Given the description of an element on the screen output the (x, y) to click on. 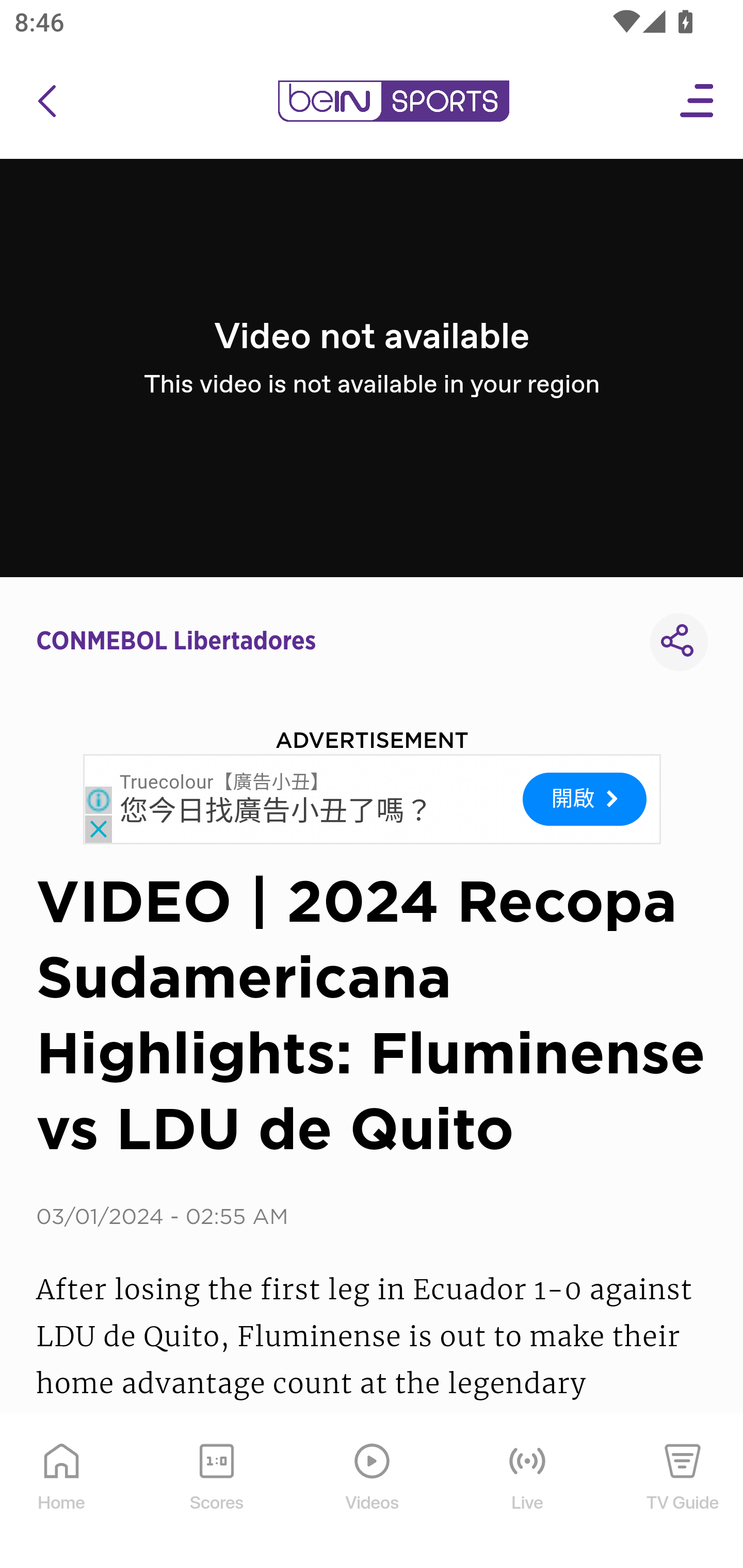
en-us?platform=mobile_android bein logo (392, 101)
icon back (46, 101)
Open Menu Icon (697, 101)
Truecolour【廣告小丑】 (223, 781)
開啟 (584, 799)
您今日找廣告小丑了嗎？ (276, 810)
Home Home Icon Home (61, 1491)
Scores Scores Icon Scores (216, 1491)
Videos Videos Icon Videos (372, 1491)
TV Guide TV Guide Icon TV Guide (682, 1491)
